Given the description of an element on the screen output the (x, y) to click on. 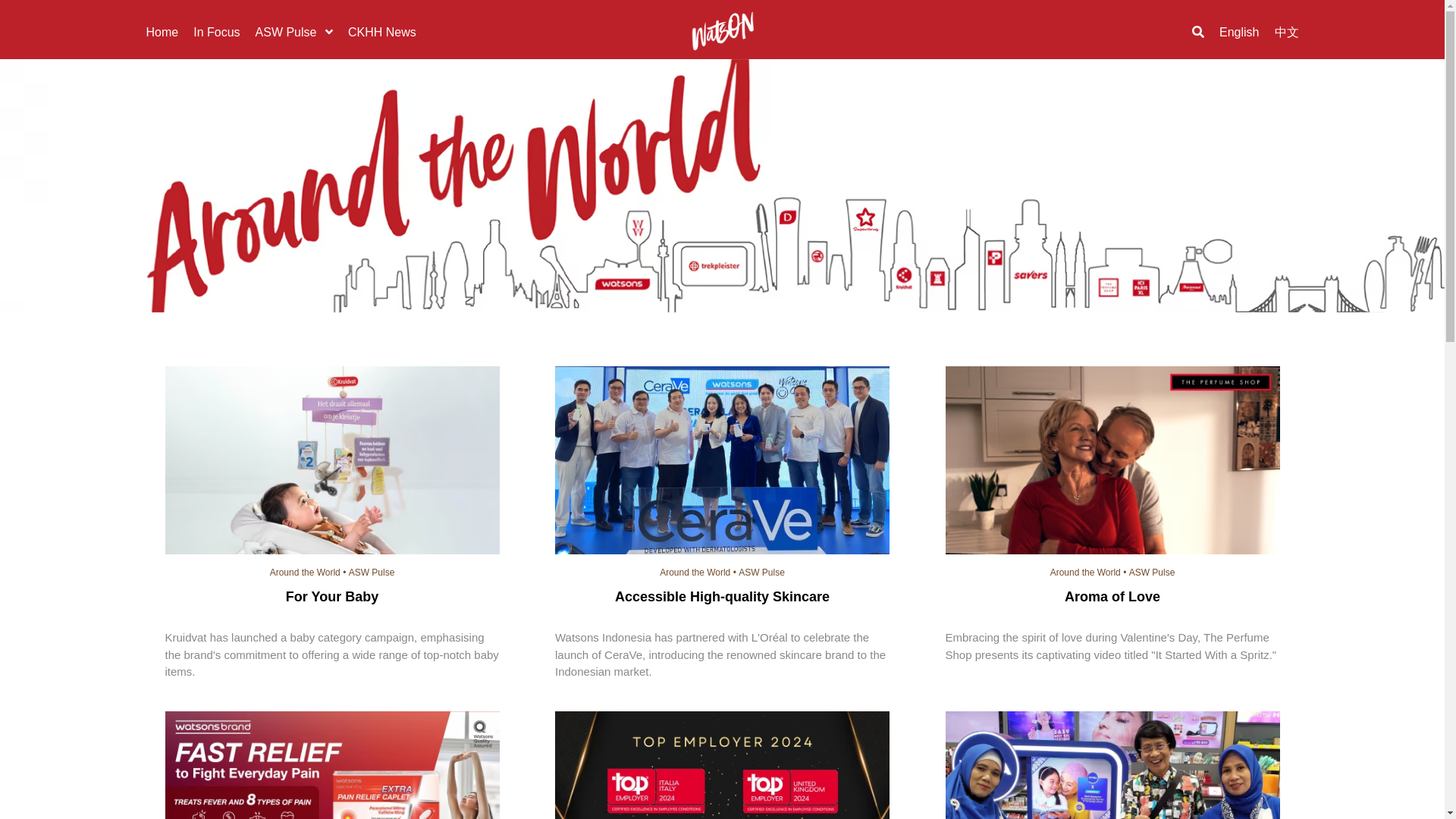
English (1239, 31)
In Focus (216, 31)
Top Employer (721, 765)
Accessible High-quality Skincare (721, 462)
Aroma of Love (1111, 462)
Empowering Women (1111, 765)
For Your Baby (332, 462)
Relieve Pain Effortlessly (332, 765)
Home (161, 31)
CKHH News (381, 31)
